Given the description of an element on the screen output the (x, y) to click on. 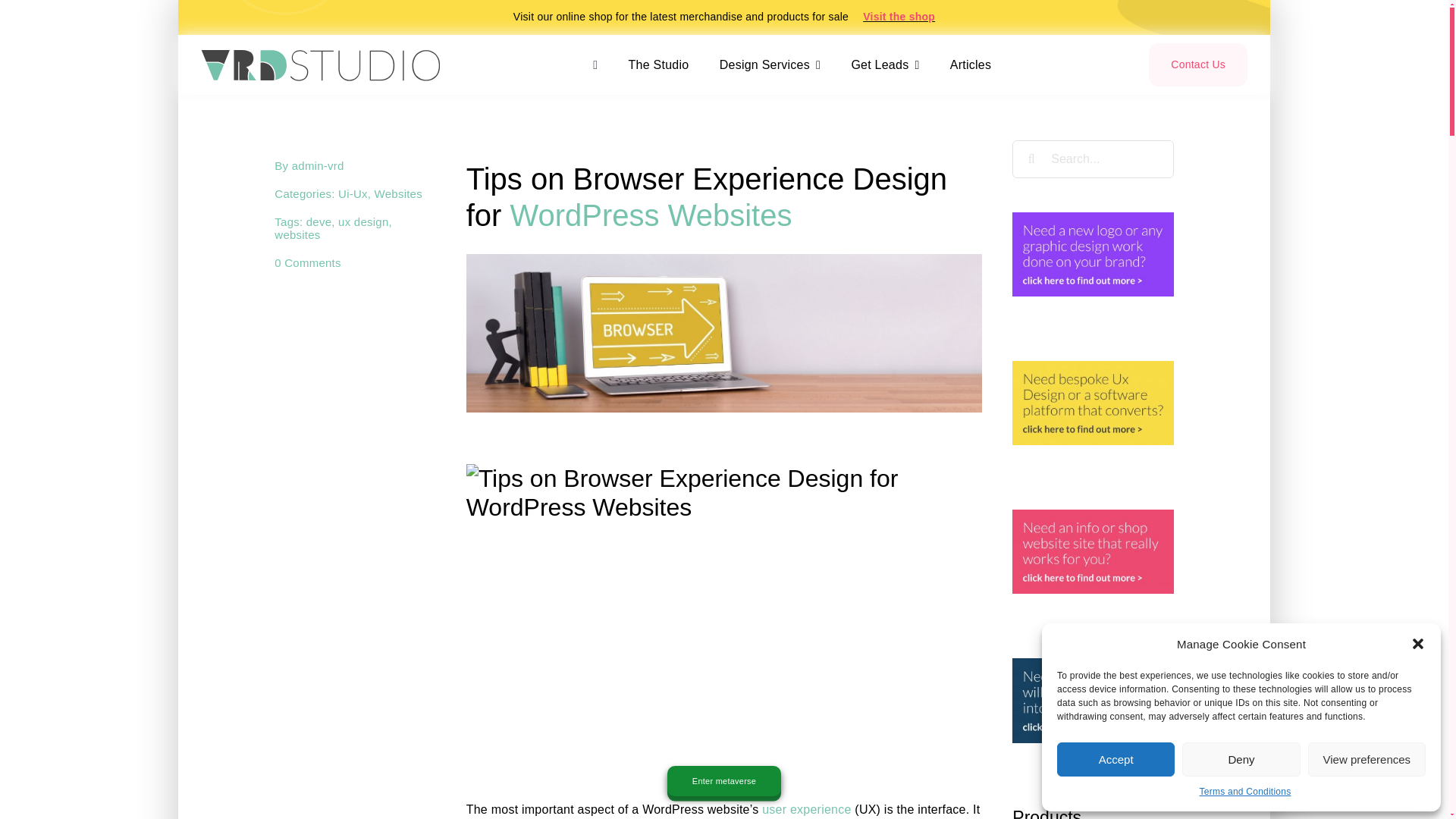
View preferences (1366, 759)
Articles (970, 64)
Accept (1115, 759)
Posts by admin-vrd (317, 164)
Deny (1241, 759)
Contact Us (1197, 64)
deve (318, 221)
WordPress Websites (650, 215)
Get Leads (884, 64)
admin-vrd (317, 164)
The Studio (658, 64)
Ui-Ux (352, 193)
